Given the description of an element on the screen output the (x, y) to click on. 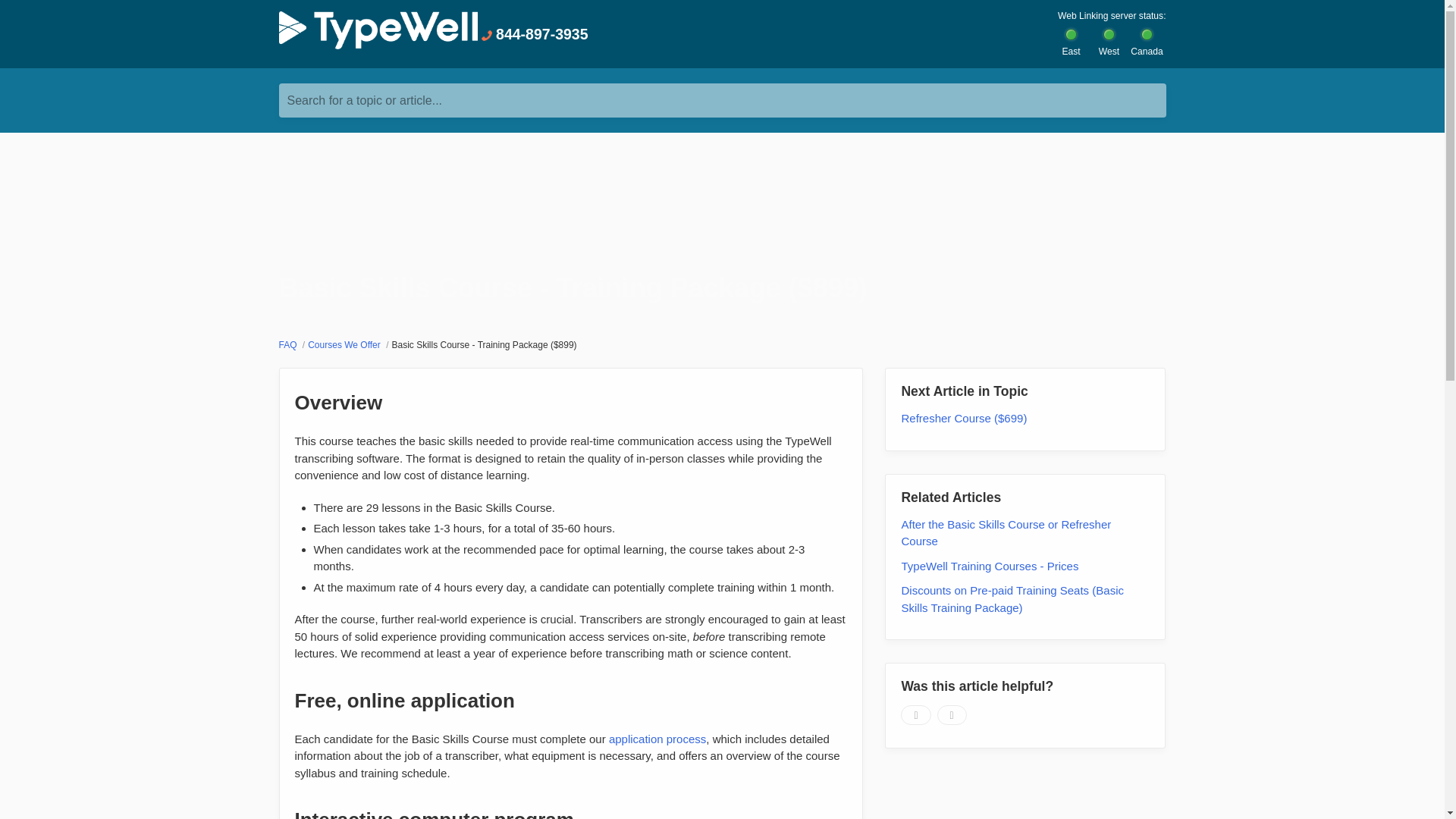
844-897-3935 (534, 34)
Courses We Offer (344, 344)
After the Basic Skills Course or Refresher Course (1005, 531)
TypeWell Training Courses - Prices (989, 565)
application process (657, 738)
FAQ (289, 344)
